Given the description of an element on the screen output the (x, y) to click on. 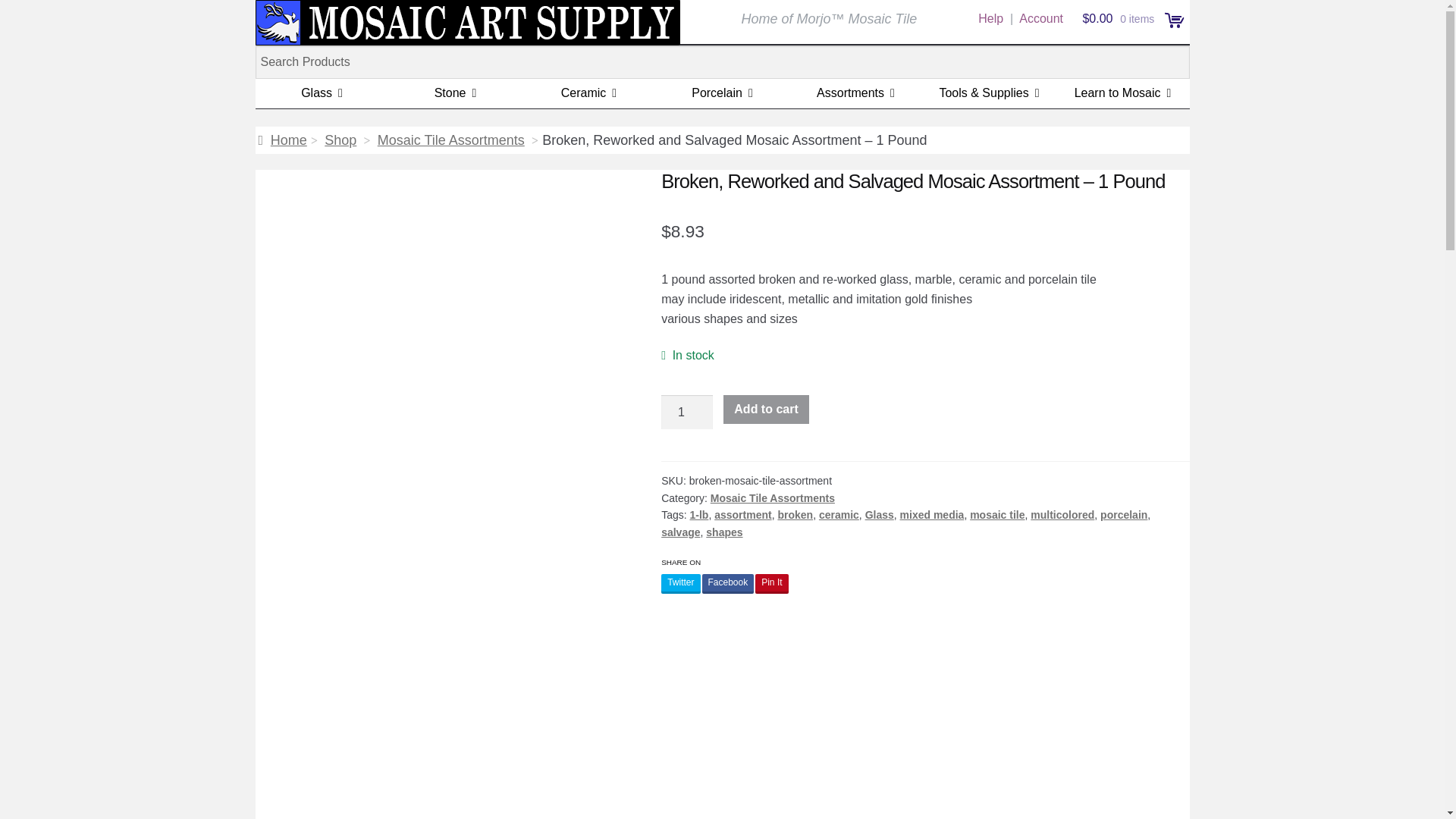
Help (990, 18)
Glass (321, 93)
1 (687, 411)
View your shopping cart (1120, 18)
Account (1040, 18)
